Given the description of an element on the screen output the (x, y) to click on. 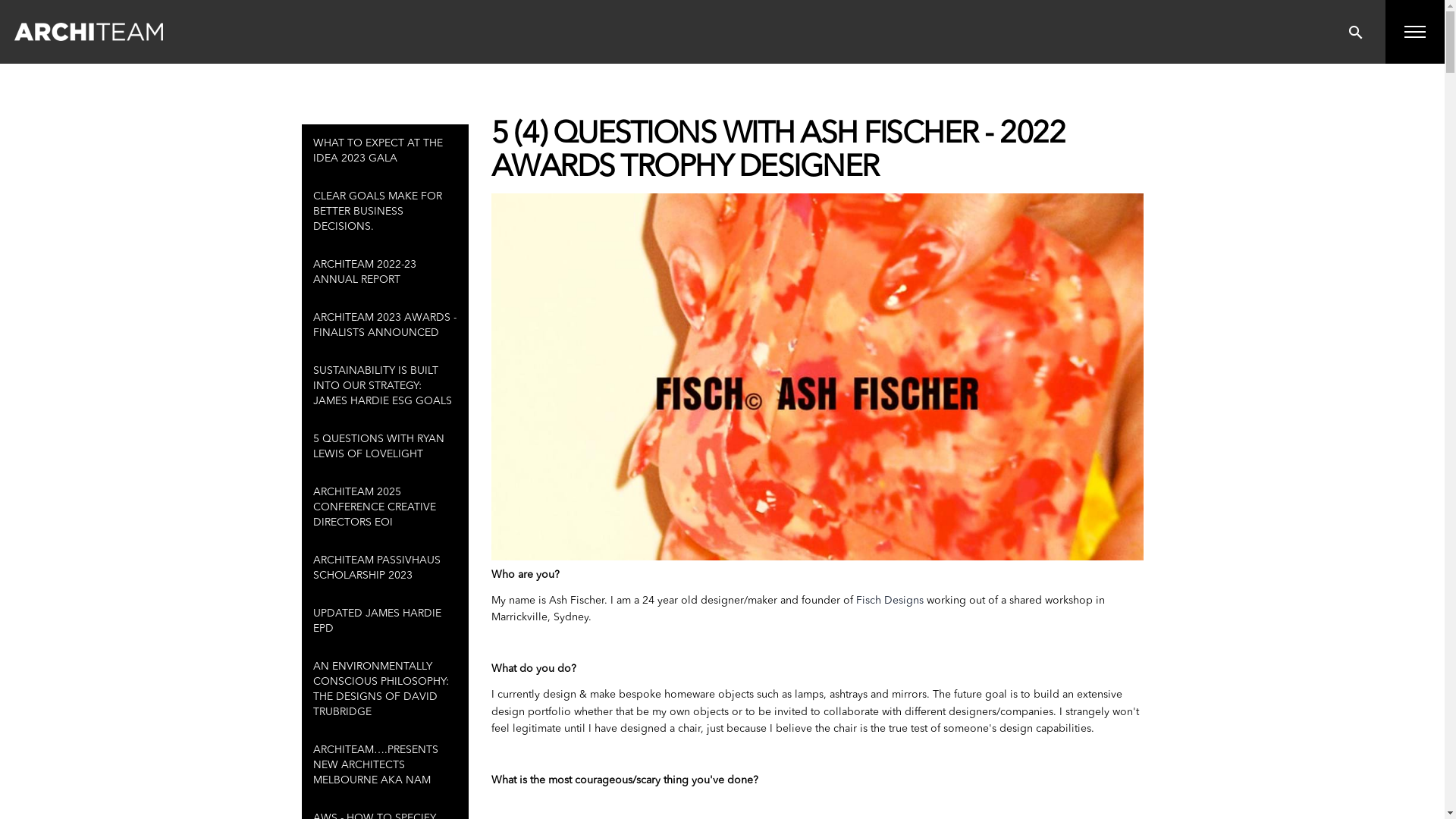
ARCHITEAM 2022-23 ANNUAL REPORT Element type: text (384, 271)
Fisch Designs Element type: text (890, 600)
ARCHITEAM 2023 AWARDS - FINALISTS ANNOUNCED Element type: text (384, 324)
5 QUESTIONS WITH RYAN LEWIS OF LOVELIGHT Element type: text (384, 446)
ARCHITEAM 2025 CONFERENCE CREATIVE DIRECTORS EOI Element type: text (384, 507)
ARCHITEAM PASSIVHAUS SCHOLARSHIP 2023 Element type: text (384, 567)
WHAT TO EXPECT AT THE IDEA 2023 GALA Element type: text (384, 150)
CLEAR GOALS MAKE FOR BETTER BUSINESS DECISIONS. Element type: text (384, 211)
